Given the description of an element on the screen output the (x, y) to click on. 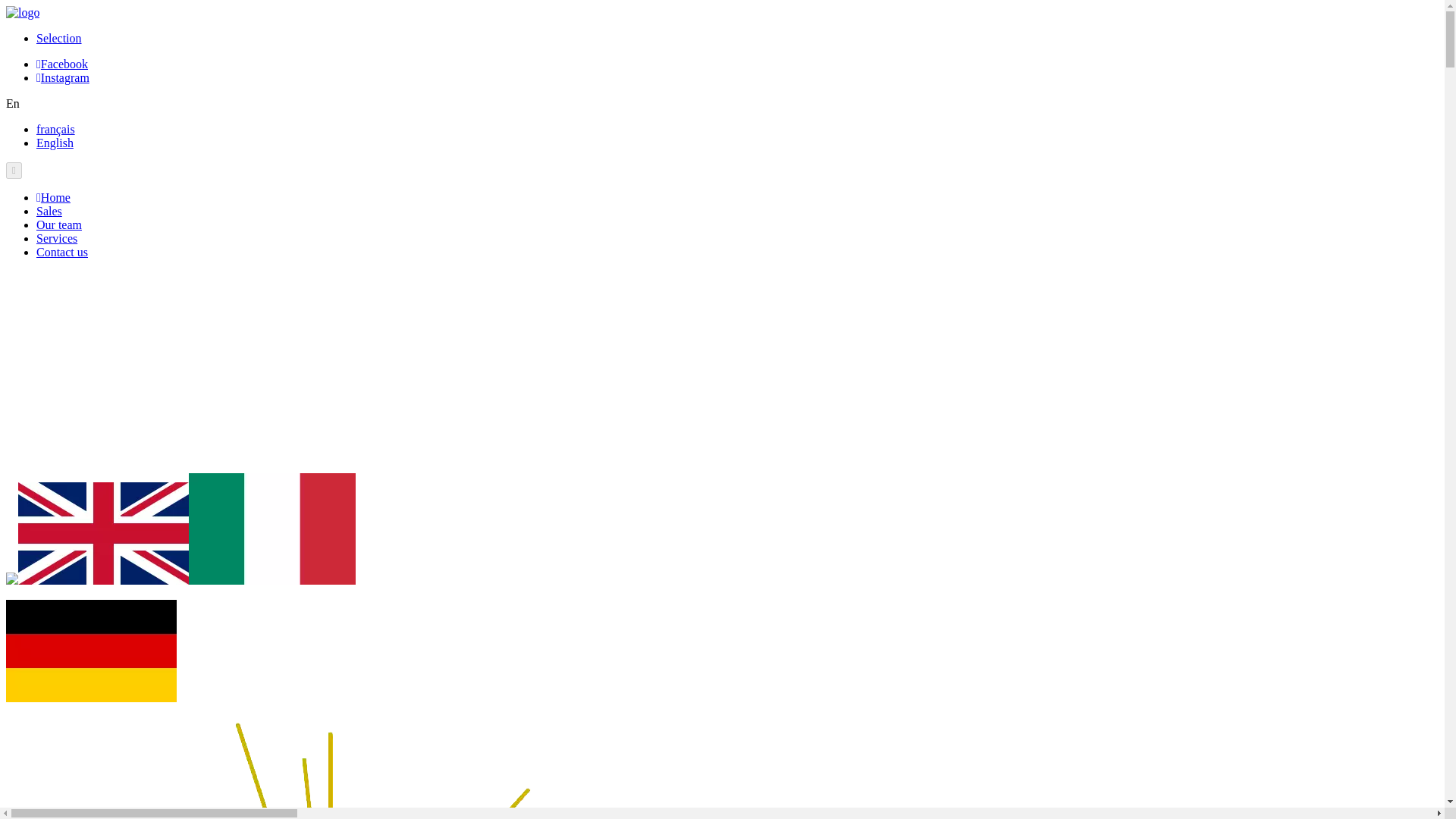
Facebook (61, 63)
Our team (58, 224)
Instagram (62, 77)
Home (52, 196)
Sales (49, 210)
Contact us (61, 251)
Selection (58, 38)
Services (56, 237)
English (55, 142)
